Given the description of an element on the screen output the (x, y) to click on. 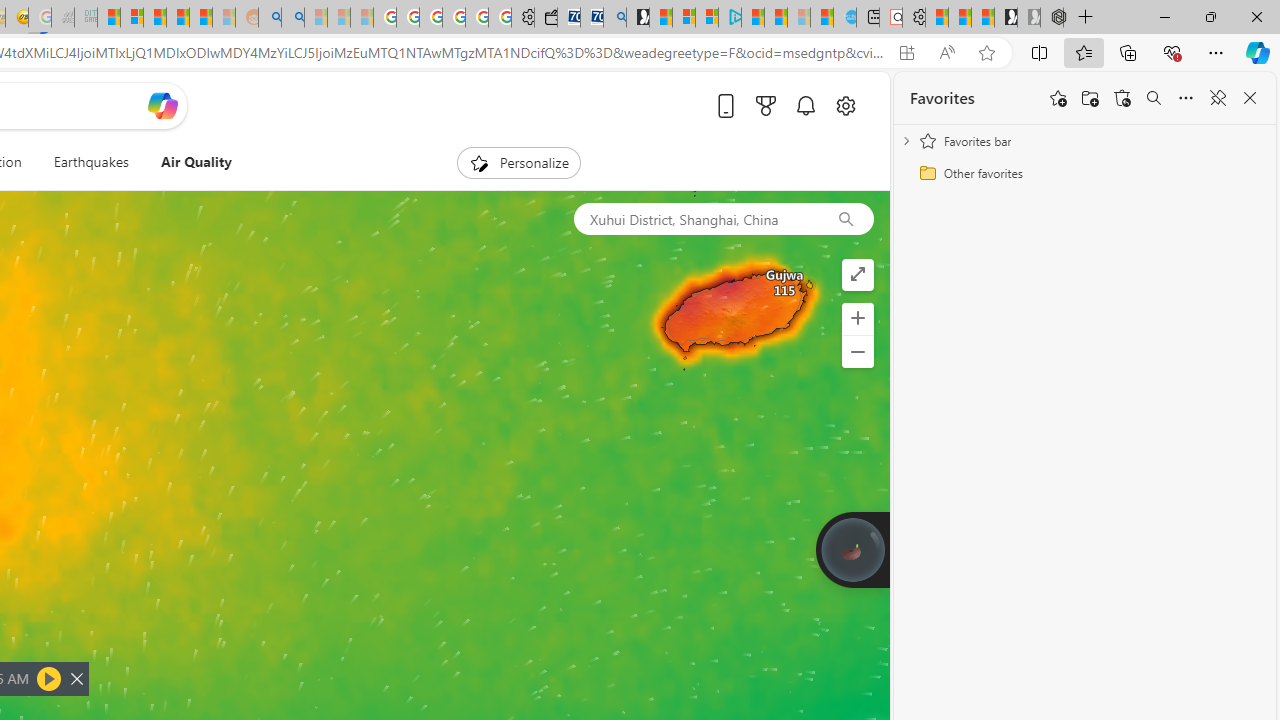
Air Quality (187, 162)
Earthquakes (90, 162)
Wallet (545, 17)
Zoom in (858, 318)
MSNBC - MSN (109, 17)
Open settings (845, 105)
Personalize (517, 162)
Nordace - Nordace Siena Is Not An Ordinary Backpack (1051, 17)
